Given the description of an element on the screen output the (x, y) to click on. 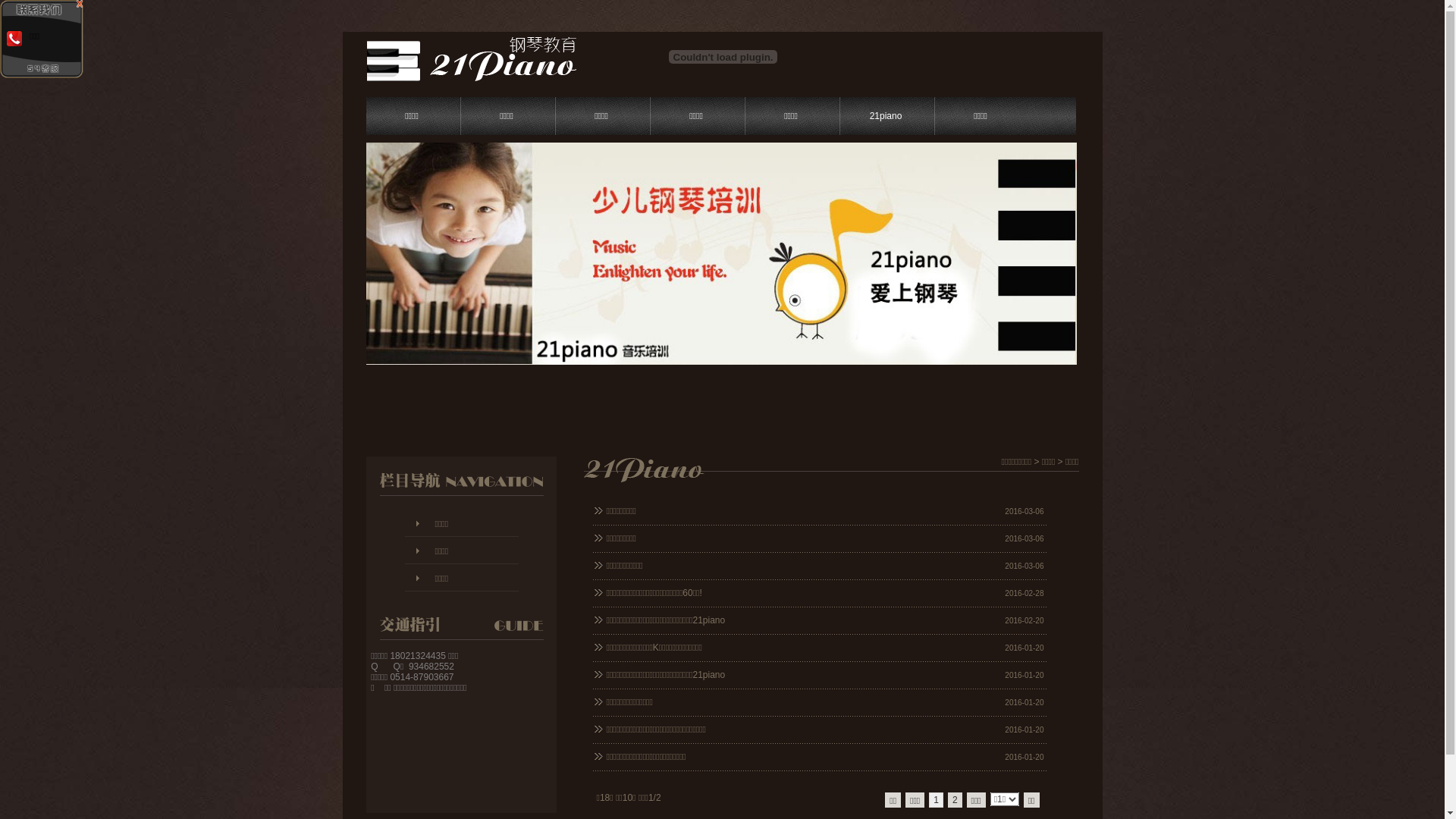
21piano Element type: text (885, 115)
2 Element type: text (954, 799)
